Given the description of an element on the screen output the (x, y) to click on. 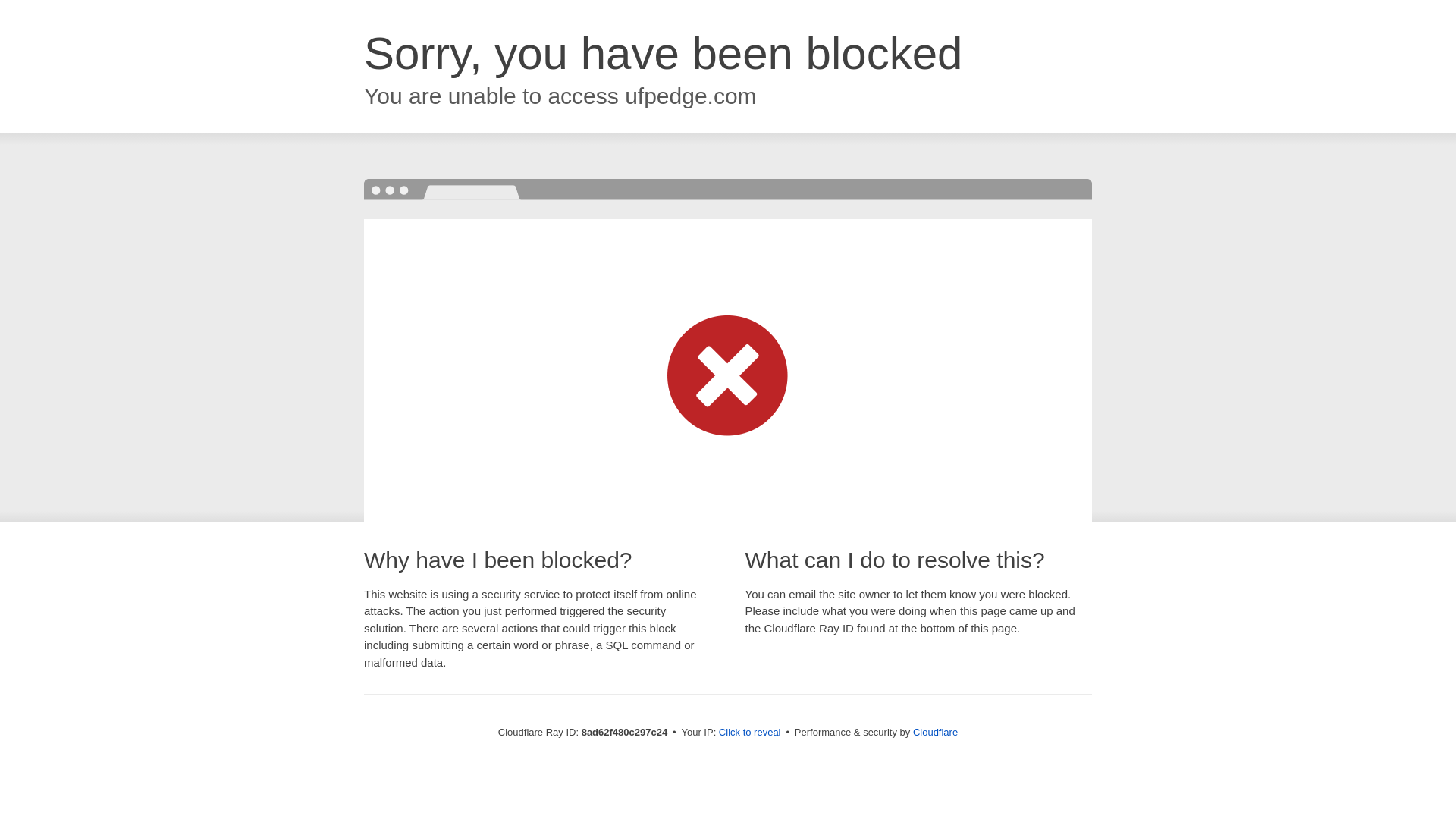
Cloudflare (935, 731)
Click to reveal (749, 732)
